Given the description of an element on the screen output the (x, y) to click on. 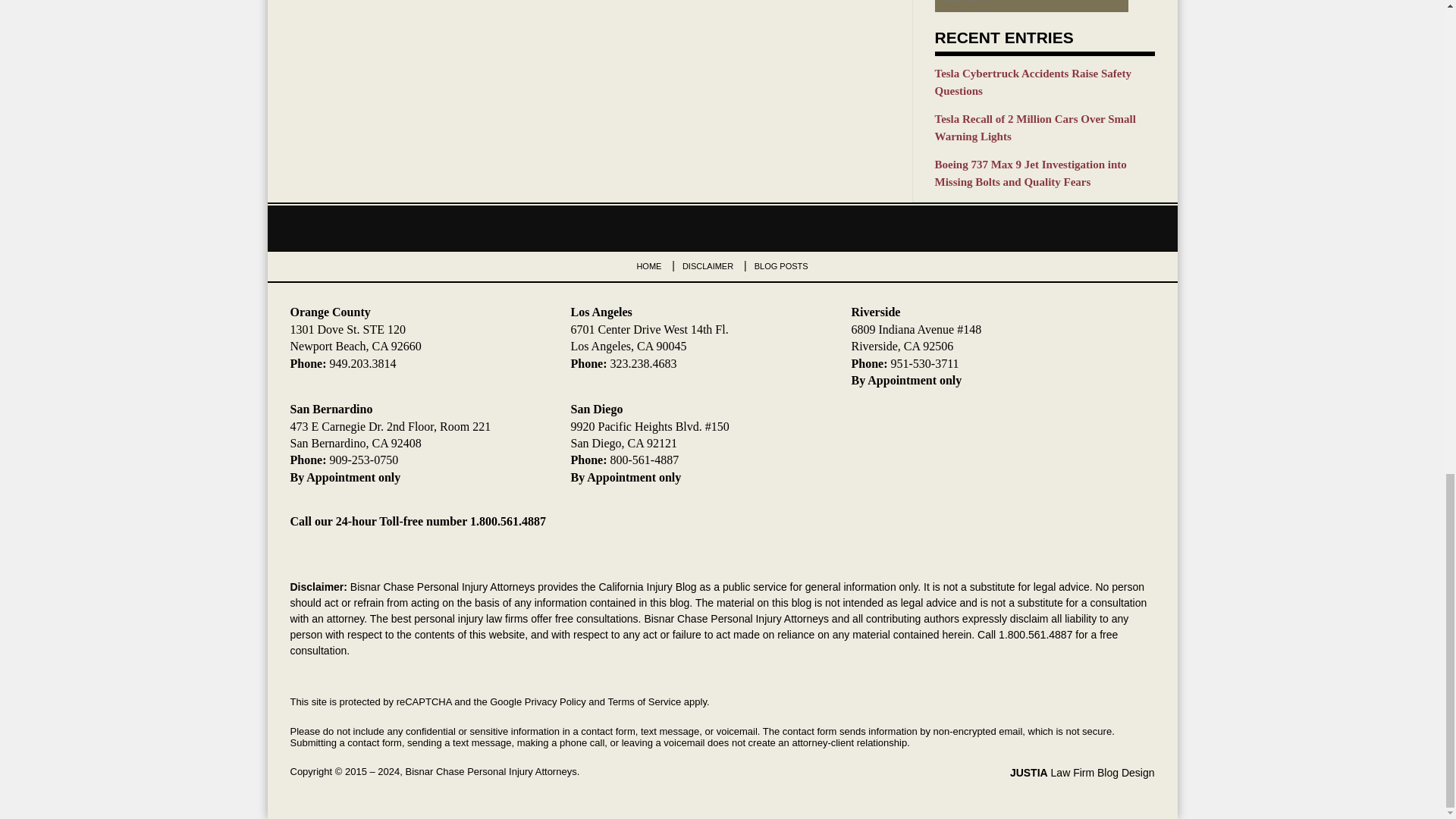
Privacy Policy (555, 701)
BLOG POSTS (780, 265)
Tesla Cybertruck Accidents Raise Safety Questions (1044, 82)
Tesla Recall of 2 Million Cars Over Small Warning Lights (1044, 127)
HOME (648, 265)
SEARCH (1141, 6)
DISCLAIMER (708, 265)
